Given the description of an element on the screen output the (x, y) to click on. 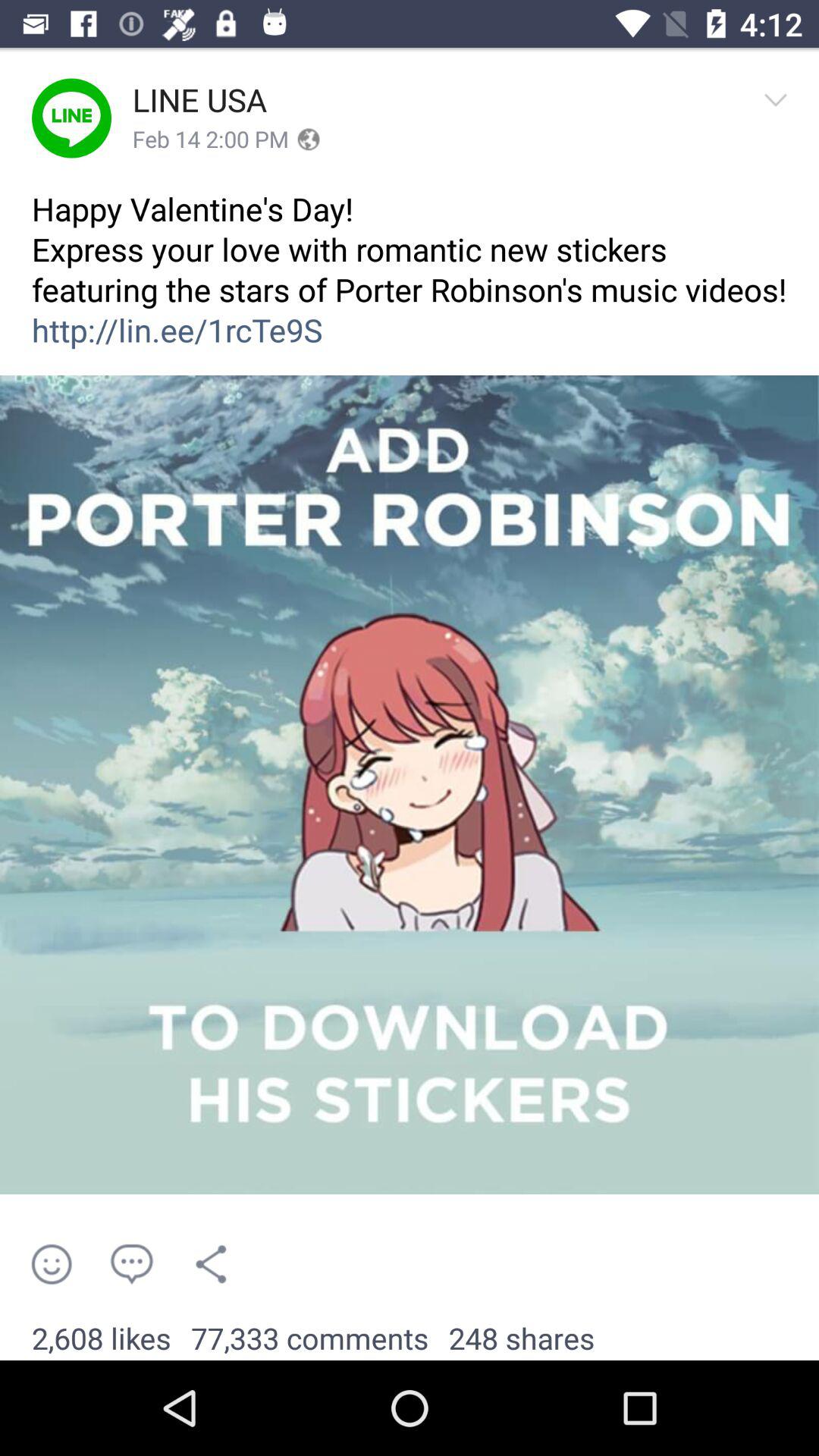
turn off the item to the right of the 77,333 comments (521, 1339)
